Given the description of an element on the screen output the (x, y) to click on. 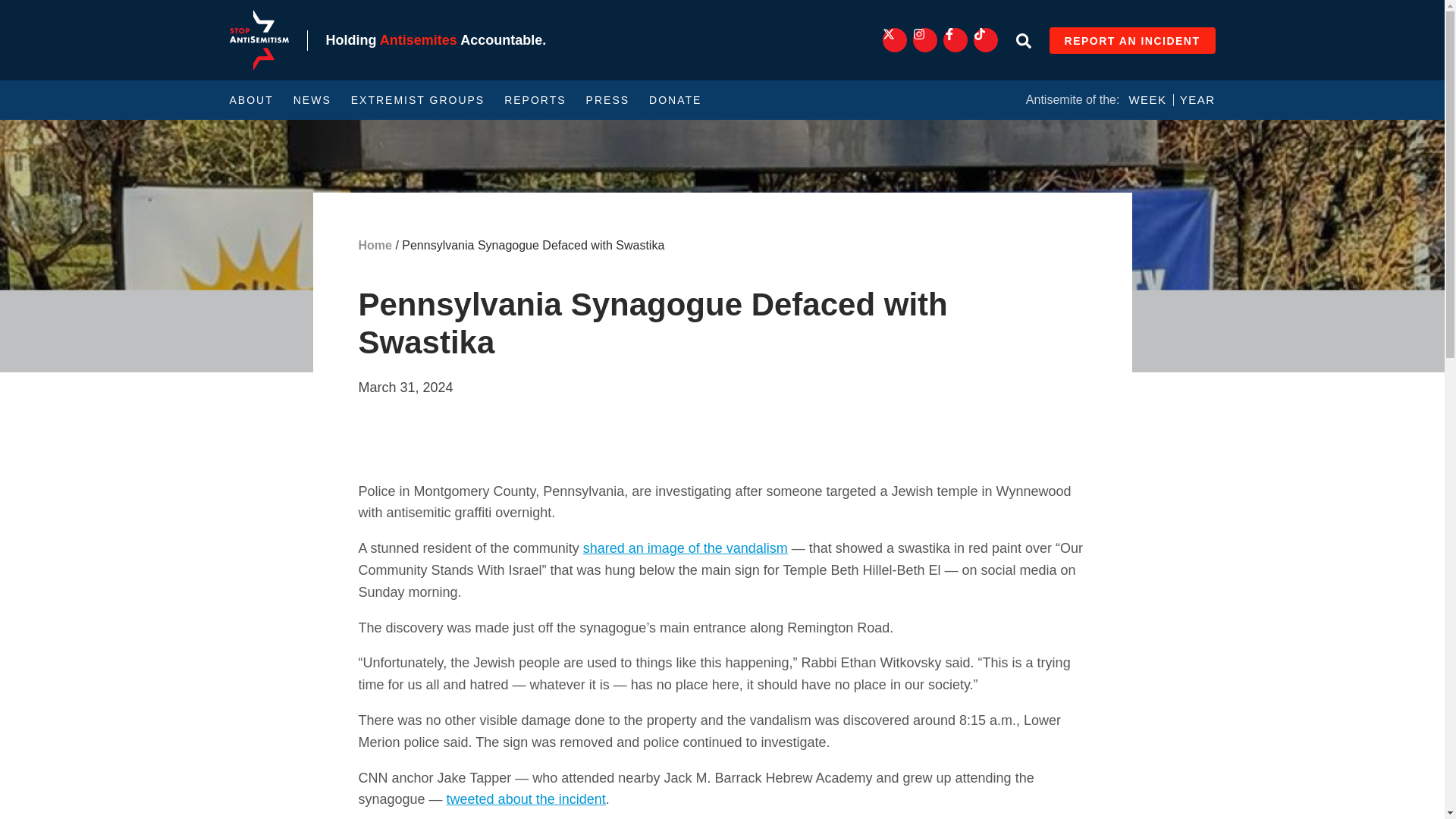
ABOUT (250, 100)
PRESS (607, 100)
EXTREMIST GROUPS (417, 100)
DONATE (675, 100)
Holding Antisemites Accountable. (436, 38)
REPORTS (534, 100)
NEWS (312, 100)
WEEK (1147, 100)
REPORT AN INCIDENT (1132, 40)
YEAR (1197, 100)
